Given the description of an element on the screen output the (x, y) to click on. 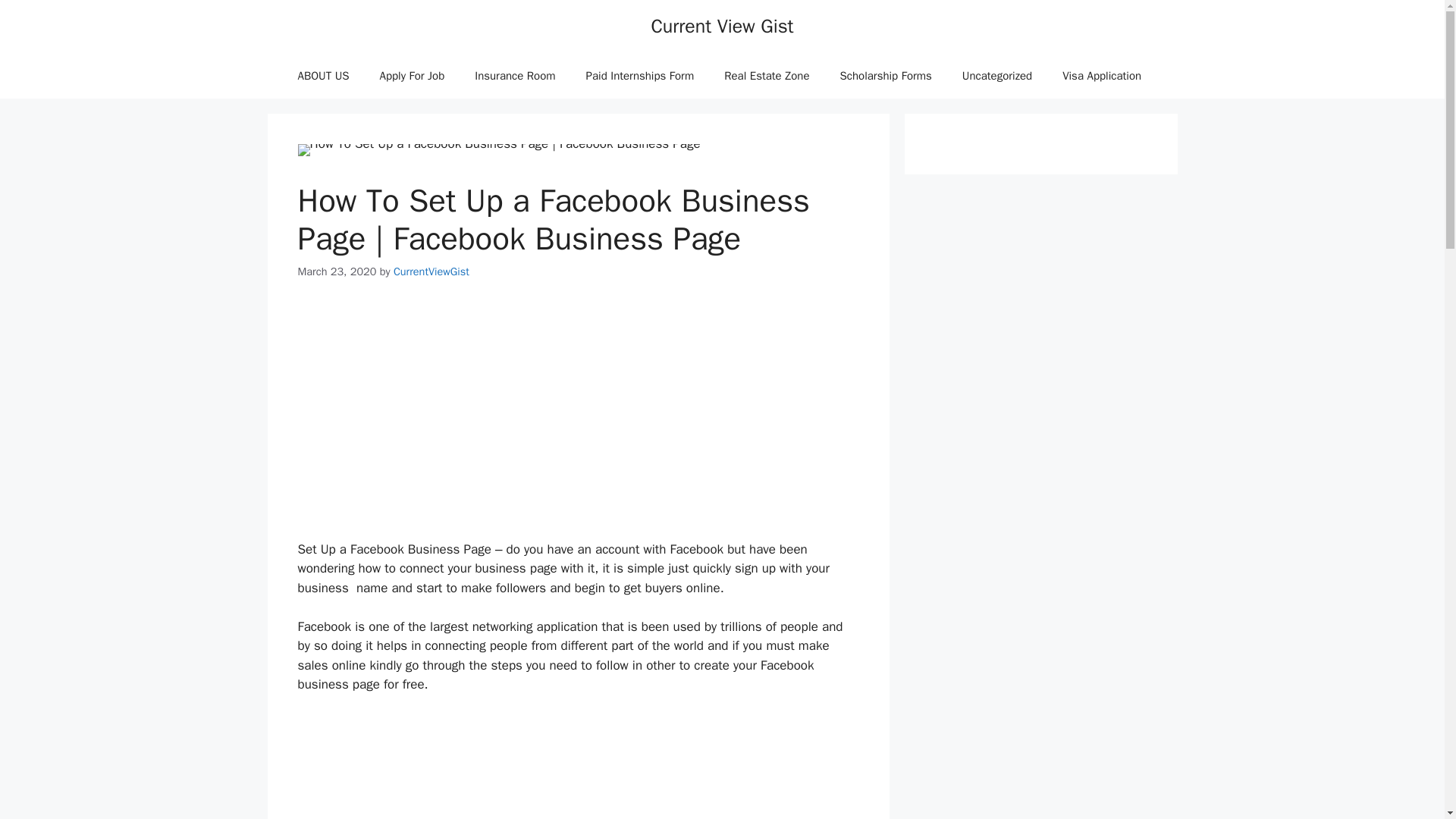
Current View Gist (721, 25)
Advertisement (577, 766)
Apply For Job (412, 75)
Real Estate Zone (766, 75)
CurrentViewGist (430, 271)
Visa Application (1101, 75)
View all posts by CurrentViewGist (430, 271)
Paid Internships Form (640, 75)
Advertisement (577, 419)
ABOUT US (323, 75)
Uncategorized (996, 75)
Insurance Room (515, 75)
Scholarship Forms (886, 75)
